Given the description of an element on the screen output the (x, y) to click on. 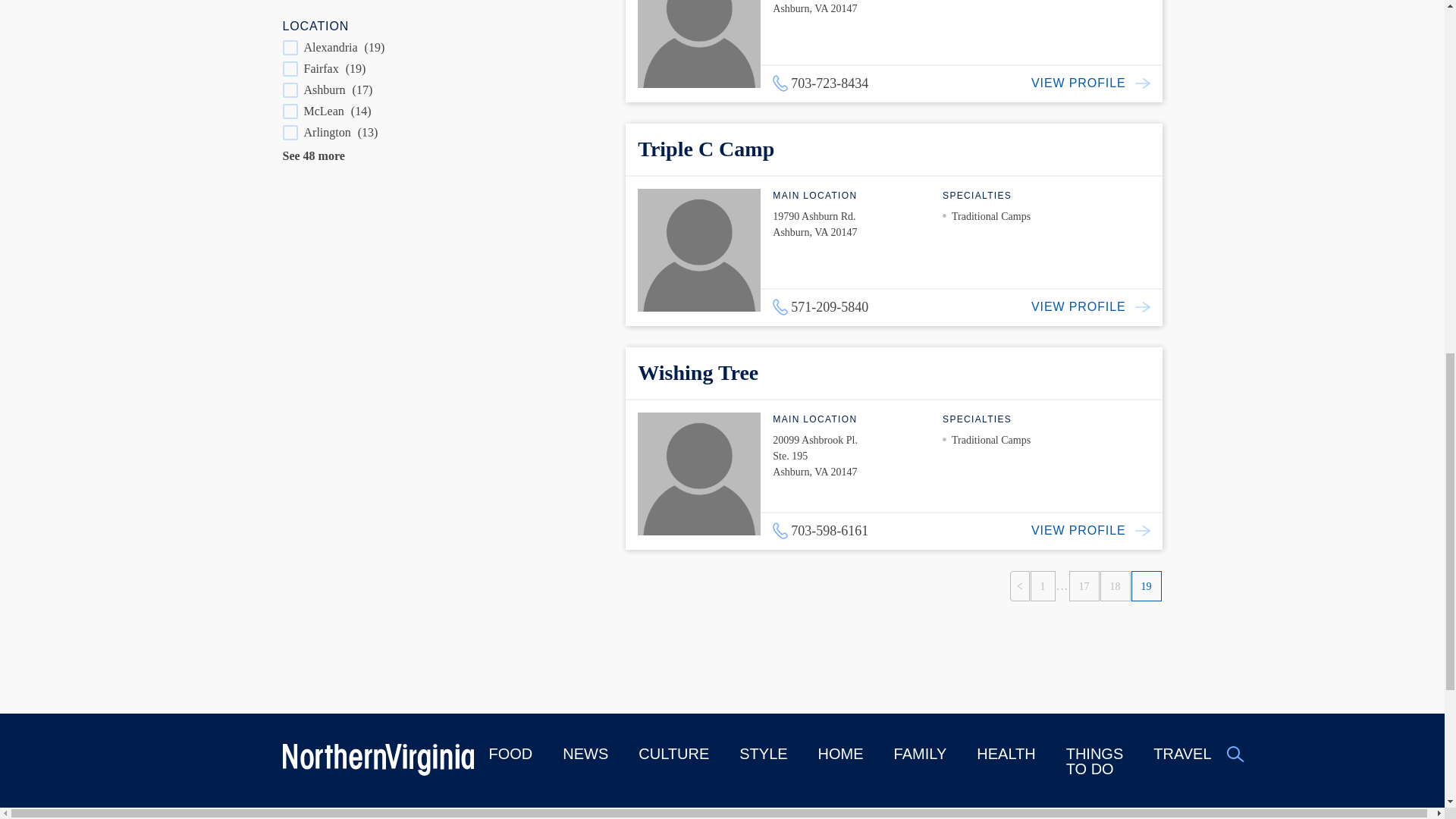
FOOD (509, 753)
19 (1146, 585)
TRAVEL (1182, 753)
HEALTH (1005, 753)
See 48 more (312, 155)
FAMILY (920, 753)
VIEW PROFILE (1095, 83)
NEWS (585, 753)
CULTURE (674, 753)
571-209-5840 (820, 306)
Northern Virginia Magazine (377, 760)
Triple C Camp (705, 148)
VIEW PROFILE (1095, 530)
VIEW PROFILE (1095, 307)
Wishing Tree (697, 372)
